Given the description of an element on the screen output the (x, y) to click on. 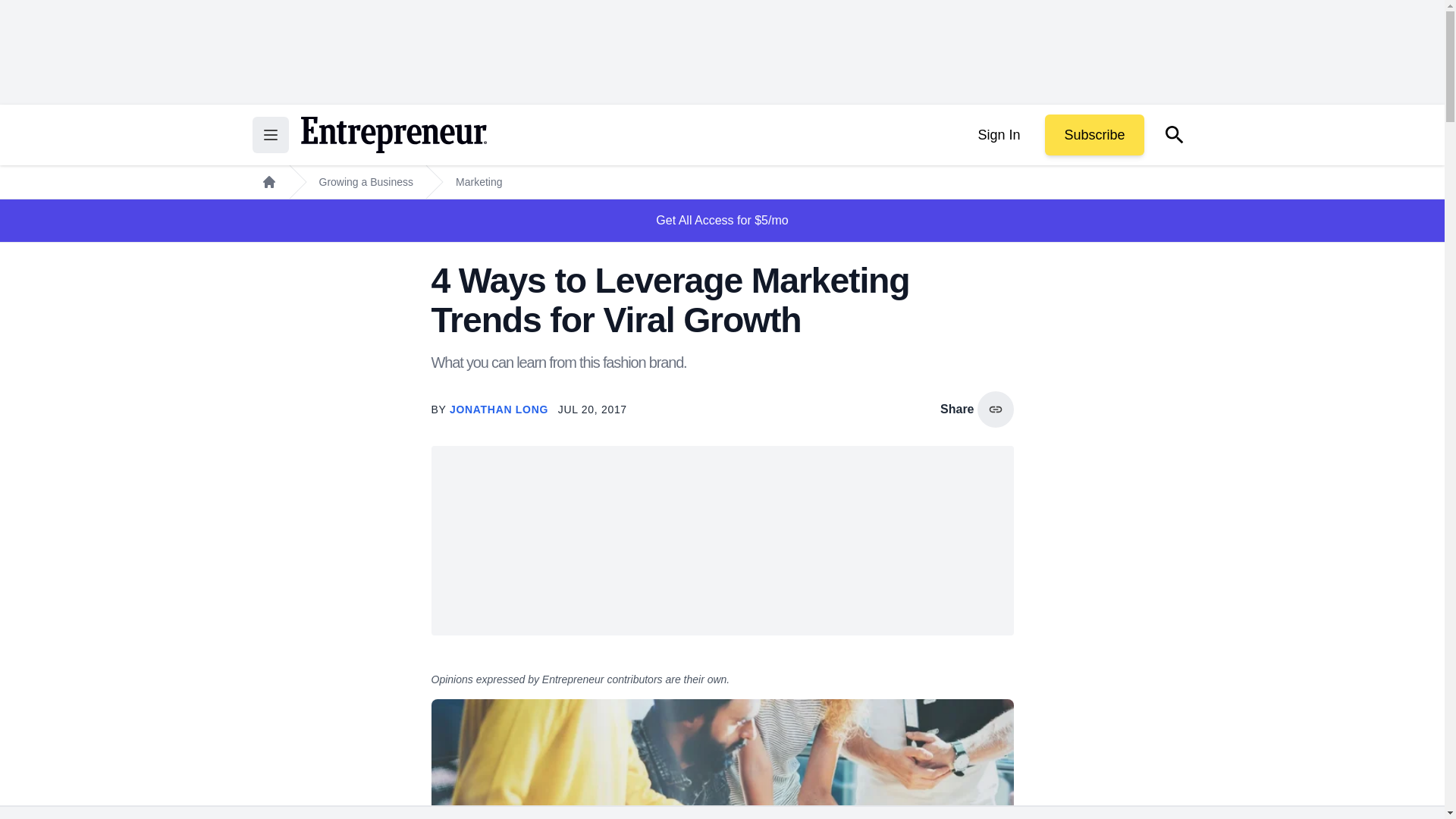
Sign In (998, 134)
Return to the home page (392, 135)
Subscribe (1093, 134)
copy (994, 409)
